Given the description of an element on the screen output the (x, y) to click on. 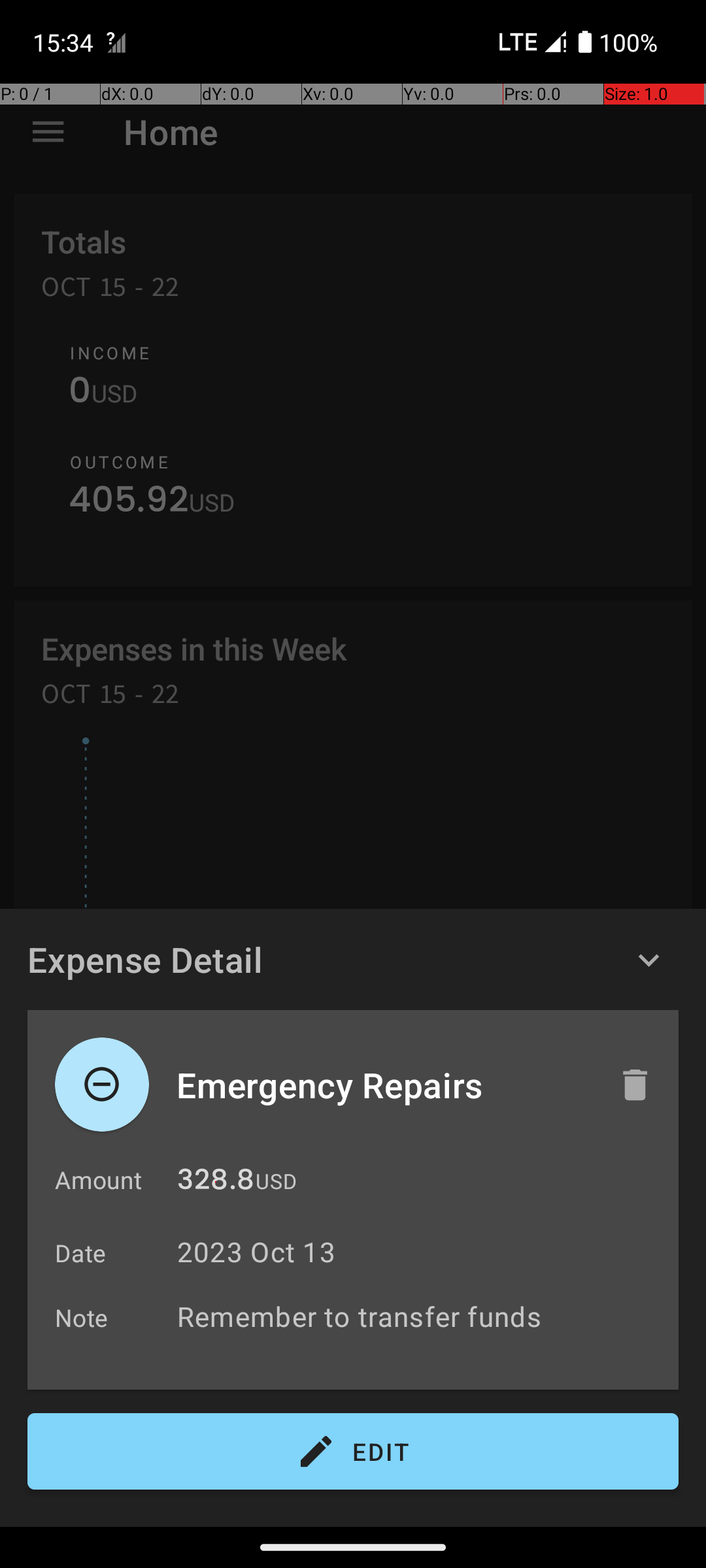
Emergency Repairs Element type: android.widget.TextView (383, 1084)
328.8 Element type: android.widget.TextView (215, 1182)
